Given the description of an element on the screen output the (x, y) to click on. 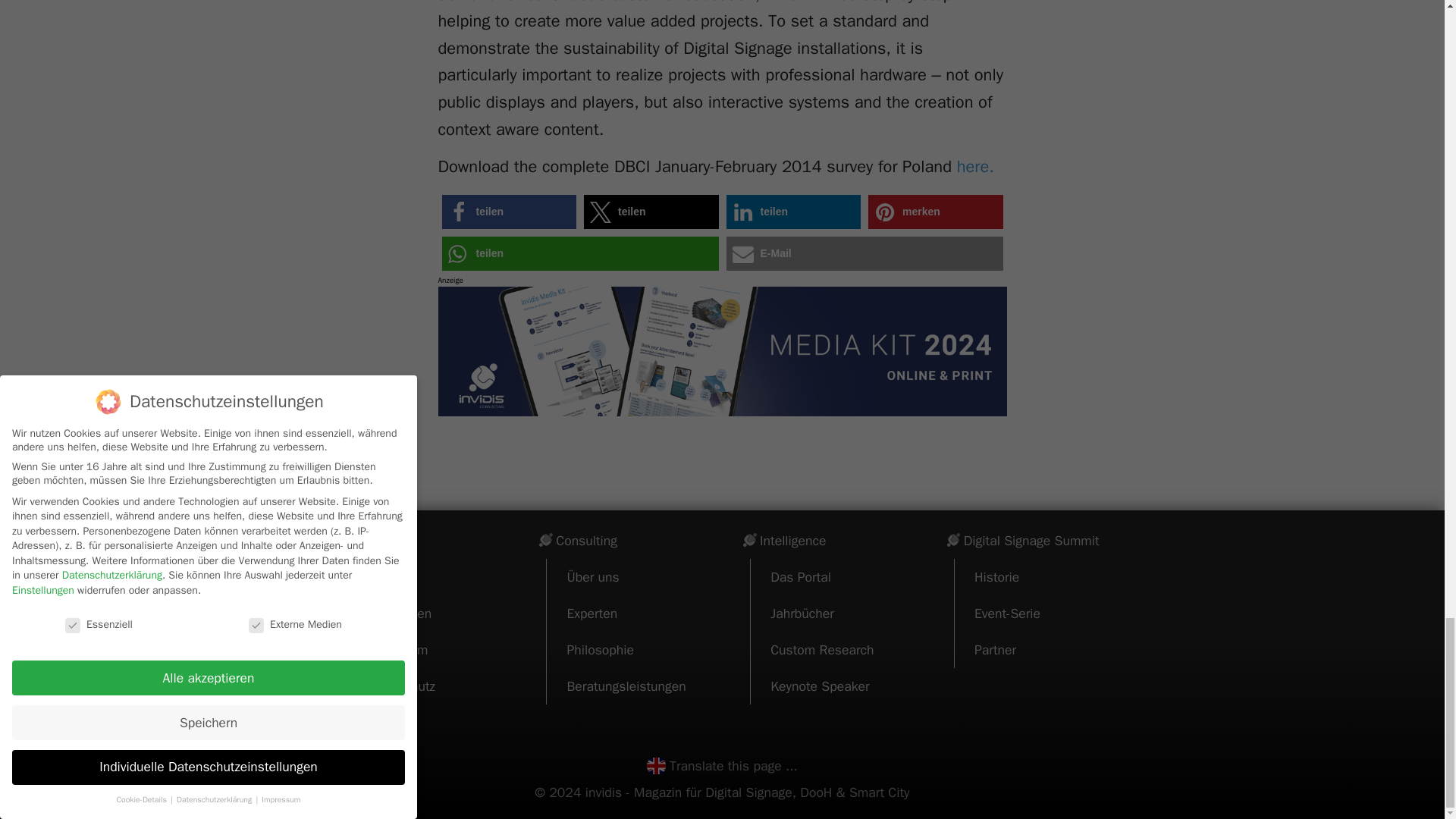
Impressum (395, 649)
Kontakt (384, 576)
Datenschutz (398, 686)
E-Mail  (864, 253)
Cookies (386, 722)
teilen  (793, 211)
here. (975, 166)
Mediadaten (397, 613)
teilen  (508, 211)
invidis (361, 540)
